Given the description of an element on the screen output the (x, y) to click on. 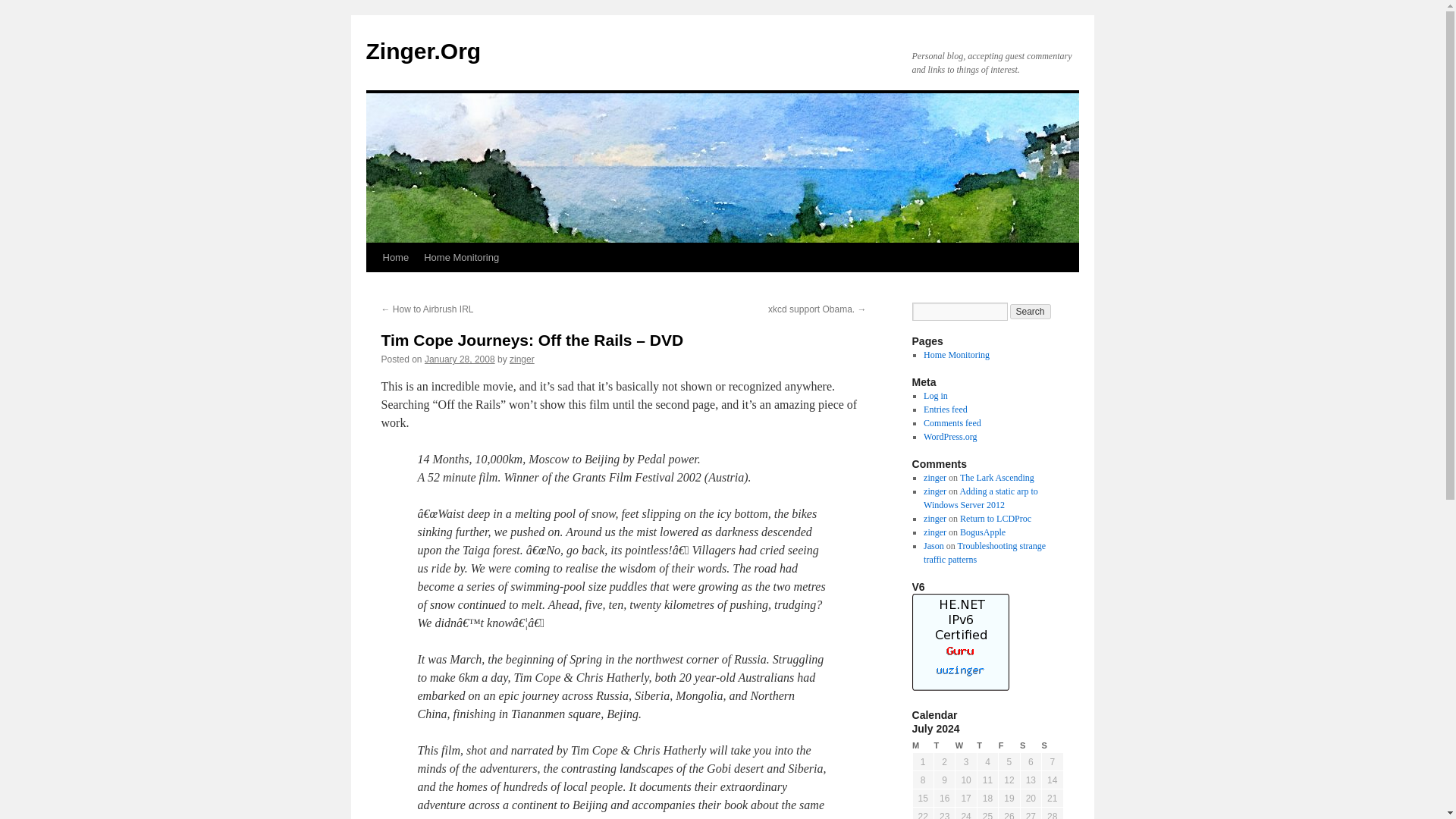
WordPress.org (949, 436)
The Lark Ascending (996, 477)
BogusApple (982, 532)
Log in (935, 395)
Jason (933, 545)
Home Monitoring (956, 354)
Home Monitoring (461, 257)
Tuesday (944, 745)
zinger (521, 358)
Troubleshooting strange traffic patterns (984, 552)
January 28, 2008 (460, 358)
Entries feed (945, 409)
Friday (1009, 745)
zinger (934, 477)
Sunday (1052, 745)
